Given the description of an element on the screen output the (x, y) to click on. 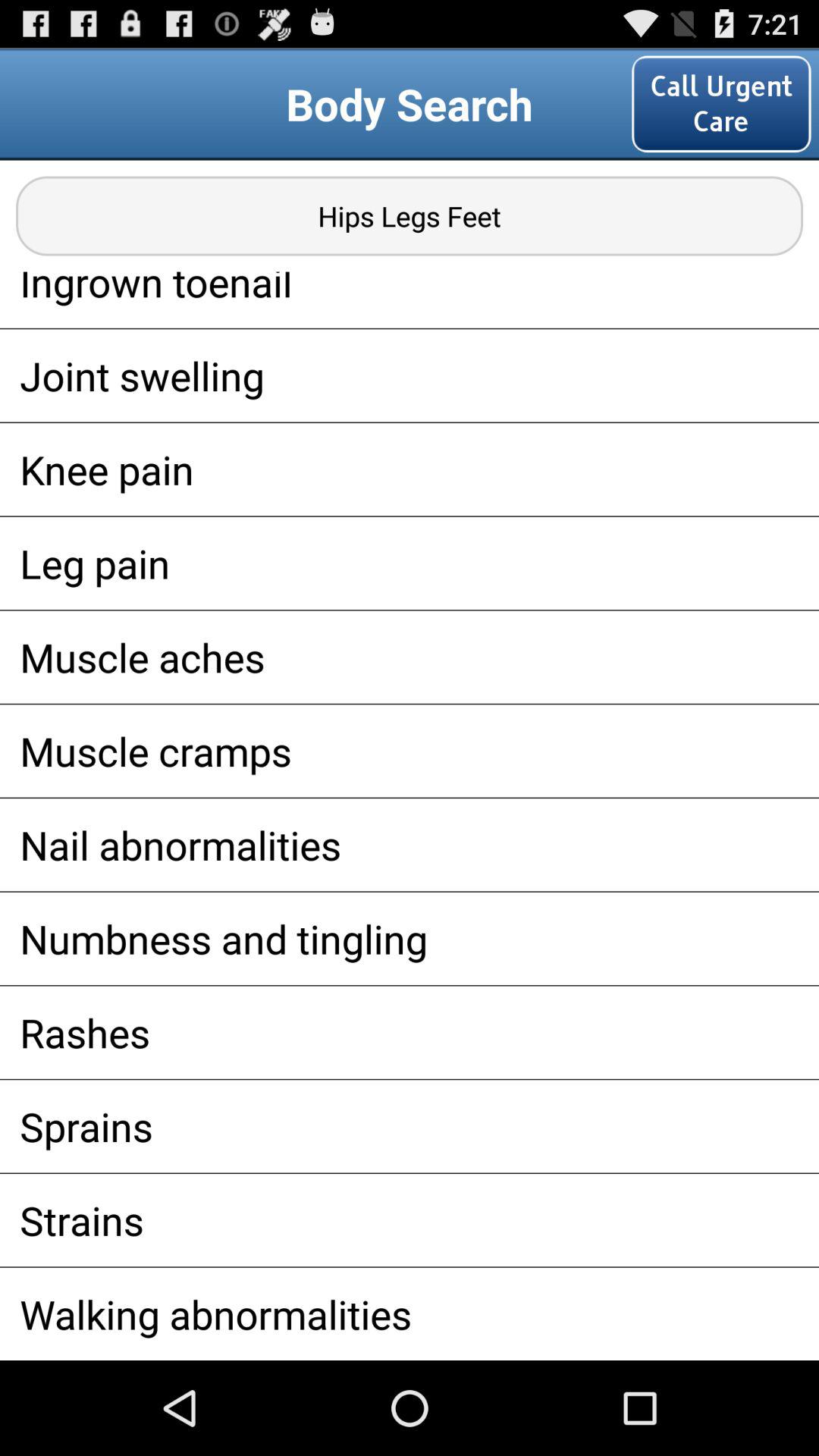
turn on app below ingrown toenail (409, 375)
